Given the description of an element on the screen output the (x, y) to click on. 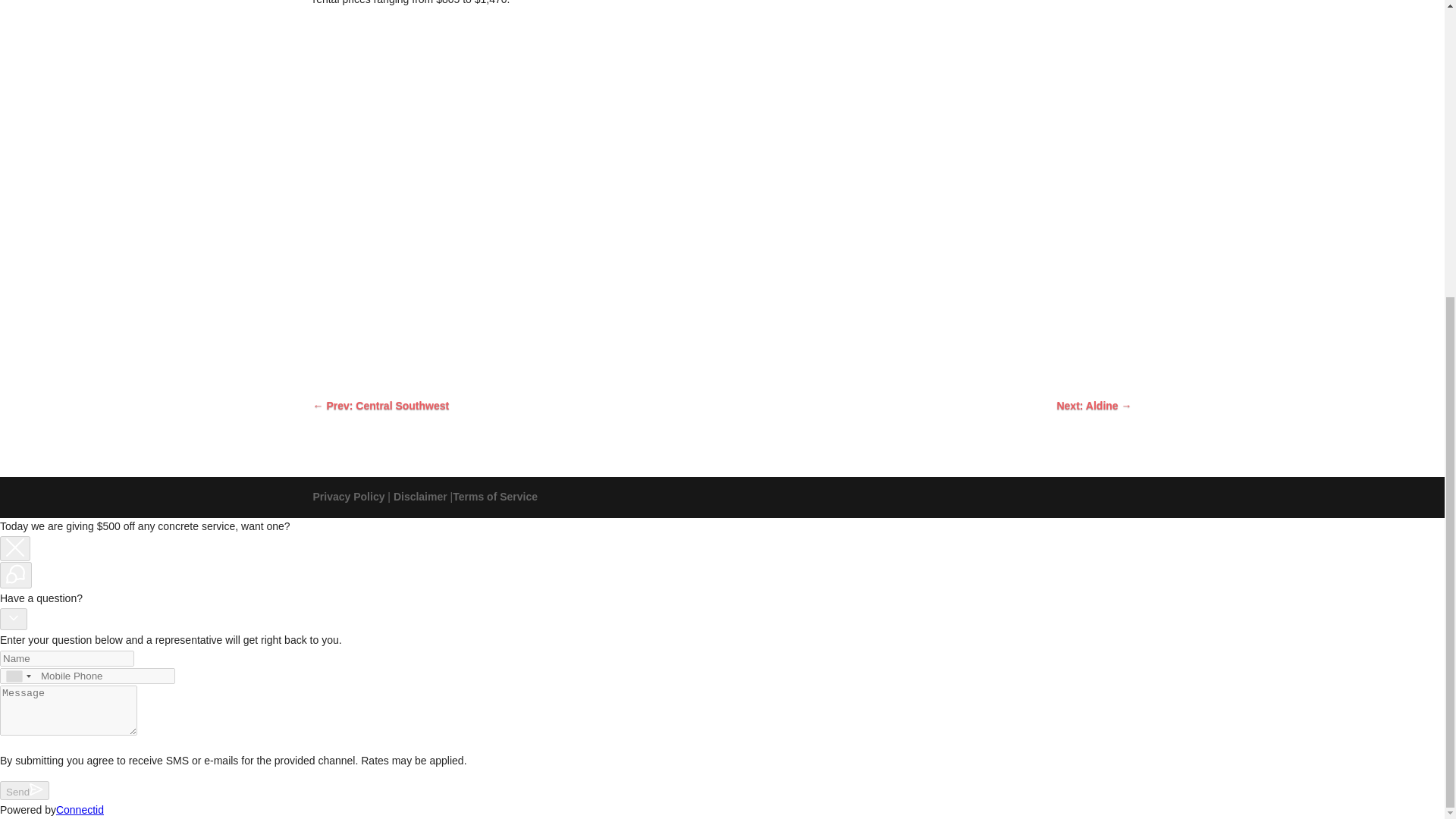
Disclaimer (419, 496)
Privacy Policy (348, 496)
Terms of Service (494, 496)
